Given the description of an element on the screen output the (x, y) to click on. 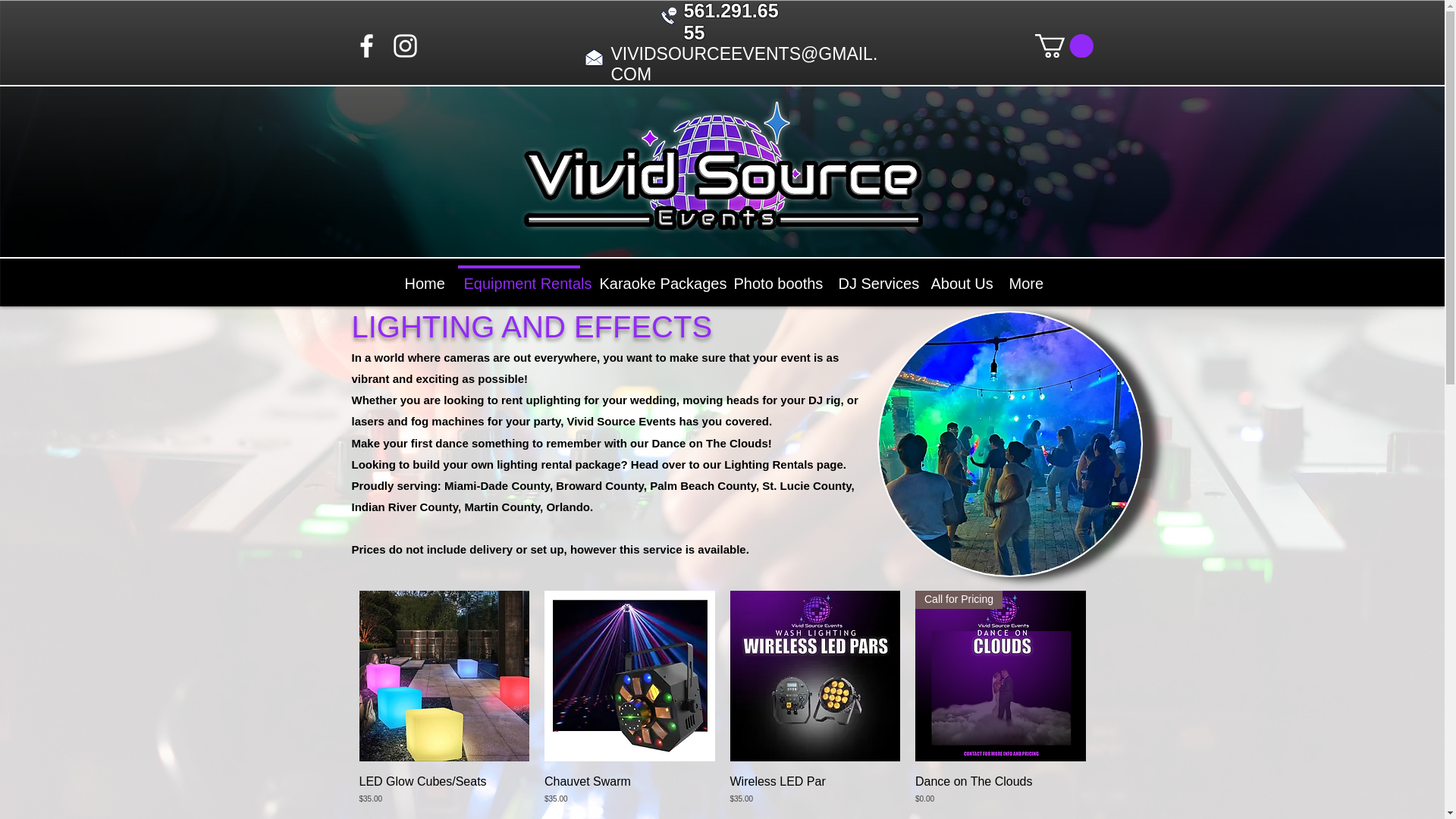
About Us (956, 277)
Karaoke Packages (653, 277)
DJ Services (871, 277)
Equipment Rentals (517, 277)
Home (420, 277)
Photo booths (772, 277)
561.291.6555 (731, 21)
